Given the description of an element on the screen output the (x, y) to click on. 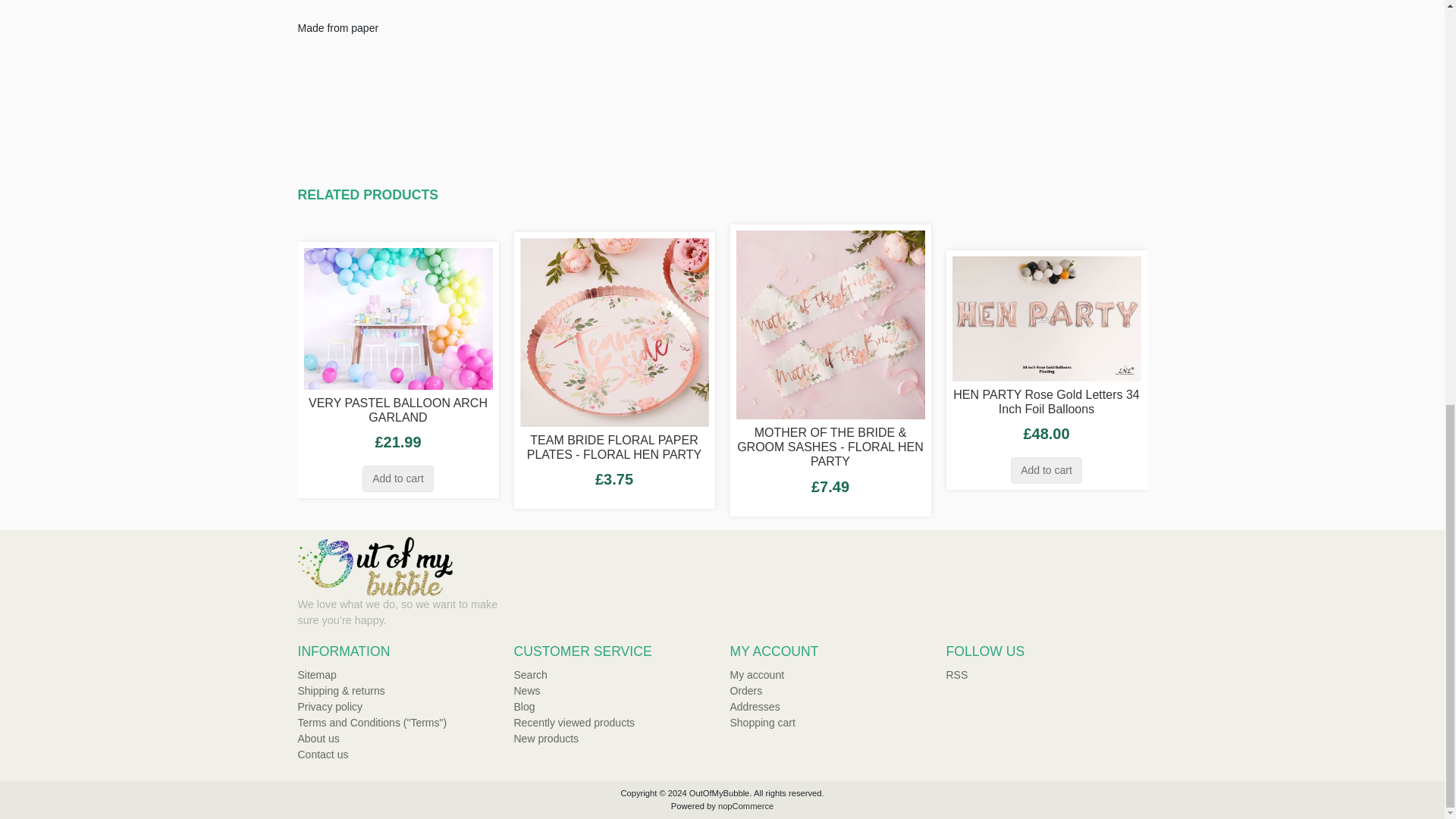
Show details for VERY PASTEL BALLOON ARCH GARLAND (397, 317)
Add to cart (1045, 470)
Show details for VERY PASTEL BALLOON ARCH GARLAND (397, 318)
Add to cart (397, 479)
